Given the description of an element on the screen output the (x, y) to click on. 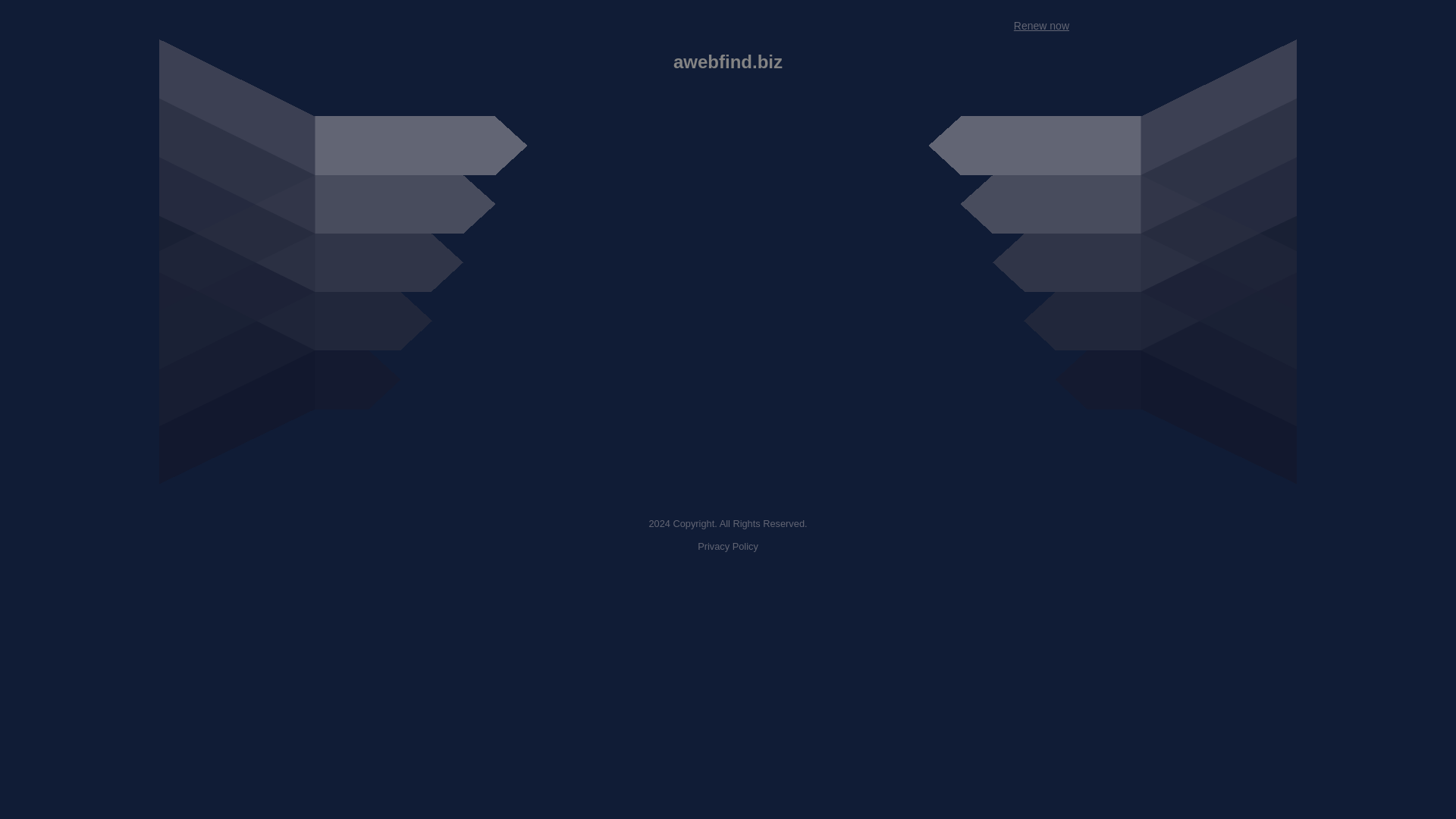
Privacy Policy (727, 546)
Renew now (1040, 25)
